Given the description of an element on the screen output the (x, y) to click on. 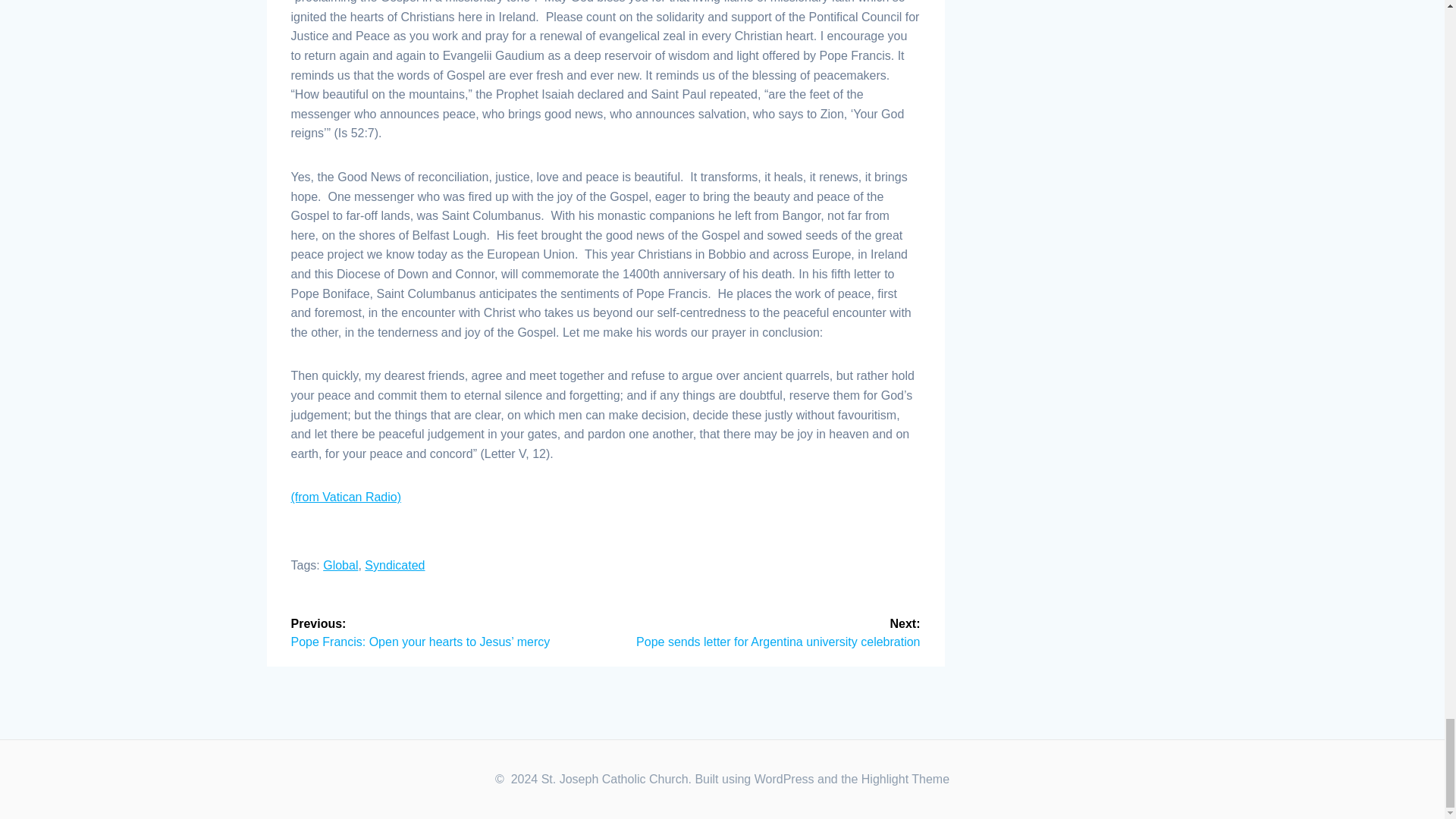
Global (340, 564)
Syndicated (395, 564)
